Given the description of an element on the screen output the (x, y) to click on. 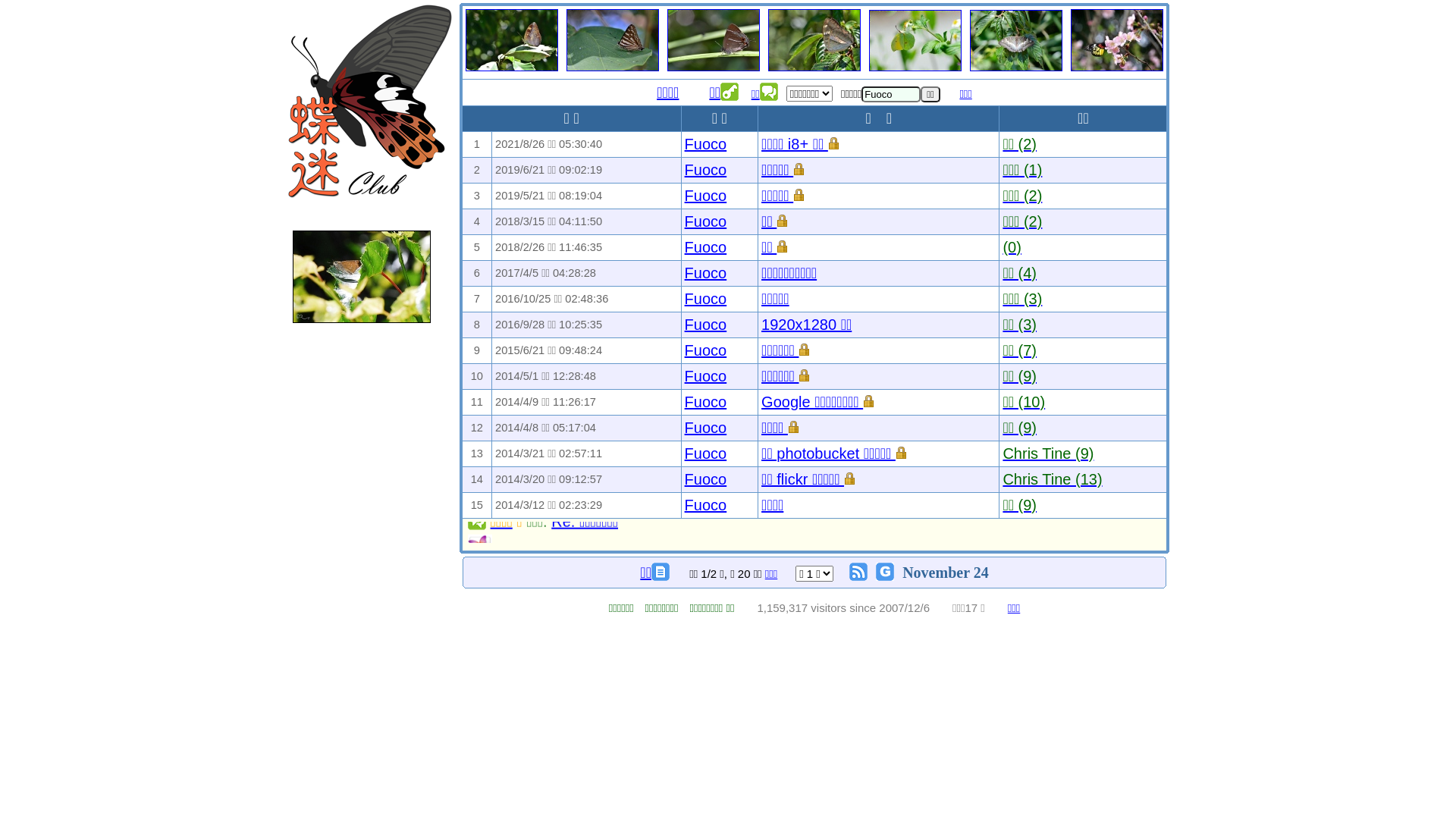
Fuoco Element type: text (705, 401)
Fuoco Element type: text (705, 375)
Fuoco Element type: text (705, 478)
Fuoco Element type: text (705, 221)
Fuoco Element type: text (705, 195)
(0) Element type: text (1011, 246)
Fuoco Element type: text (705, 427)
Fuoco Element type: text (705, 272)
Chris Tine (13) Element type: text (1051, 478)
Fuoco Element type: text (705, 324)
Fuoco Element type: text (705, 298)
Fuoco Element type: text (705, 143)
Fuoco Element type: text (705, 453)
Fuoco Element type: text (705, 350)
Fuoco Element type: text (705, 246)
Chris Tine (9) Element type: text (1047, 453)
Fuoco Element type: text (705, 504)
Fuoco Element type: text (705, 169)
